Given the description of an element on the screen output the (x, y) to click on. 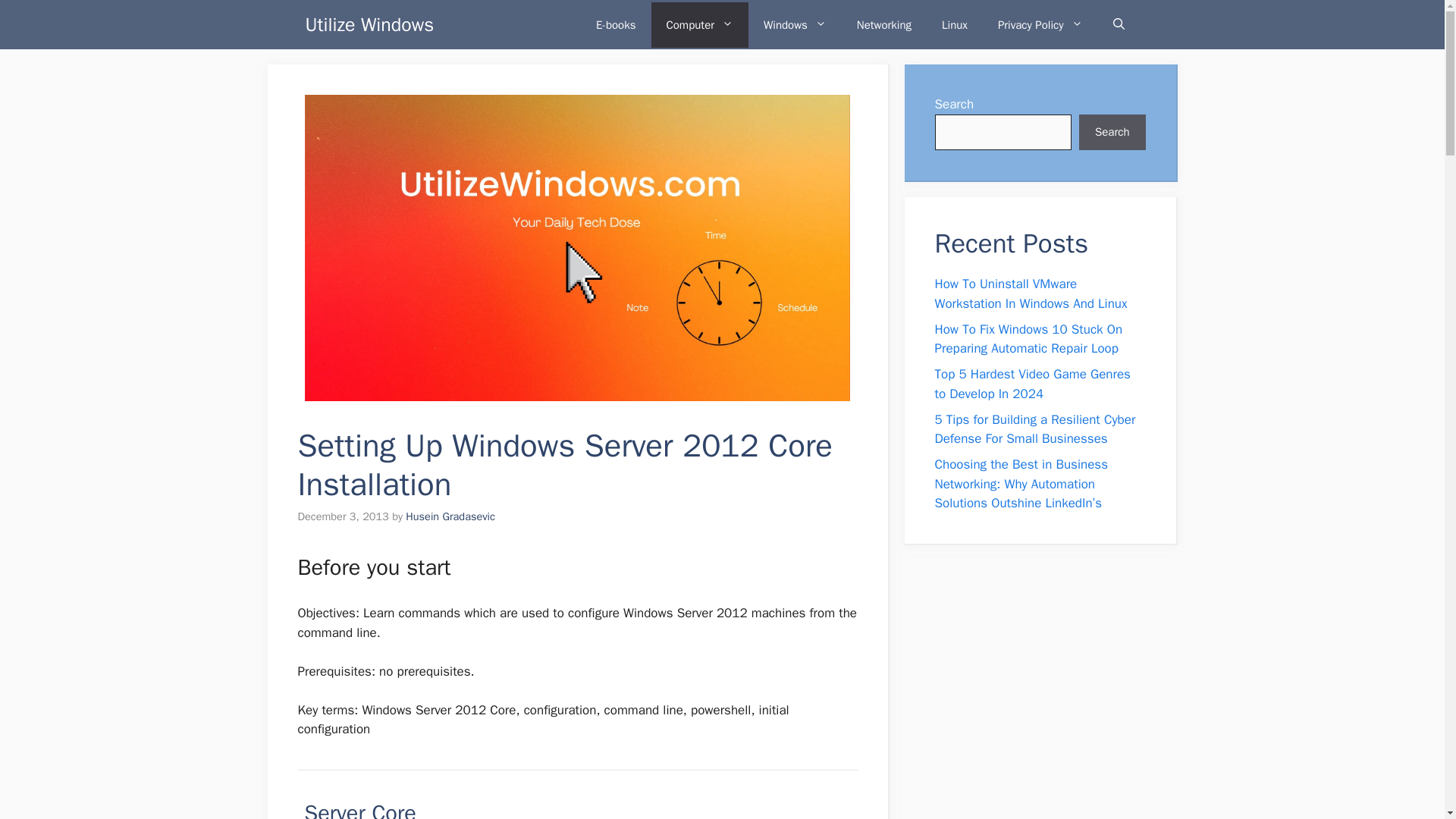
Search (1111, 131)
Husein Gradasevic (450, 516)
View all posts by Husein Gradasevic (450, 516)
Privacy Policy (1039, 23)
E-books (615, 23)
Computer (699, 23)
Linux (954, 23)
Utilize Windows (368, 24)
Windows (794, 23)
Networking (883, 23)
